Given the description of an element on the screen output the (x, y) to click on. 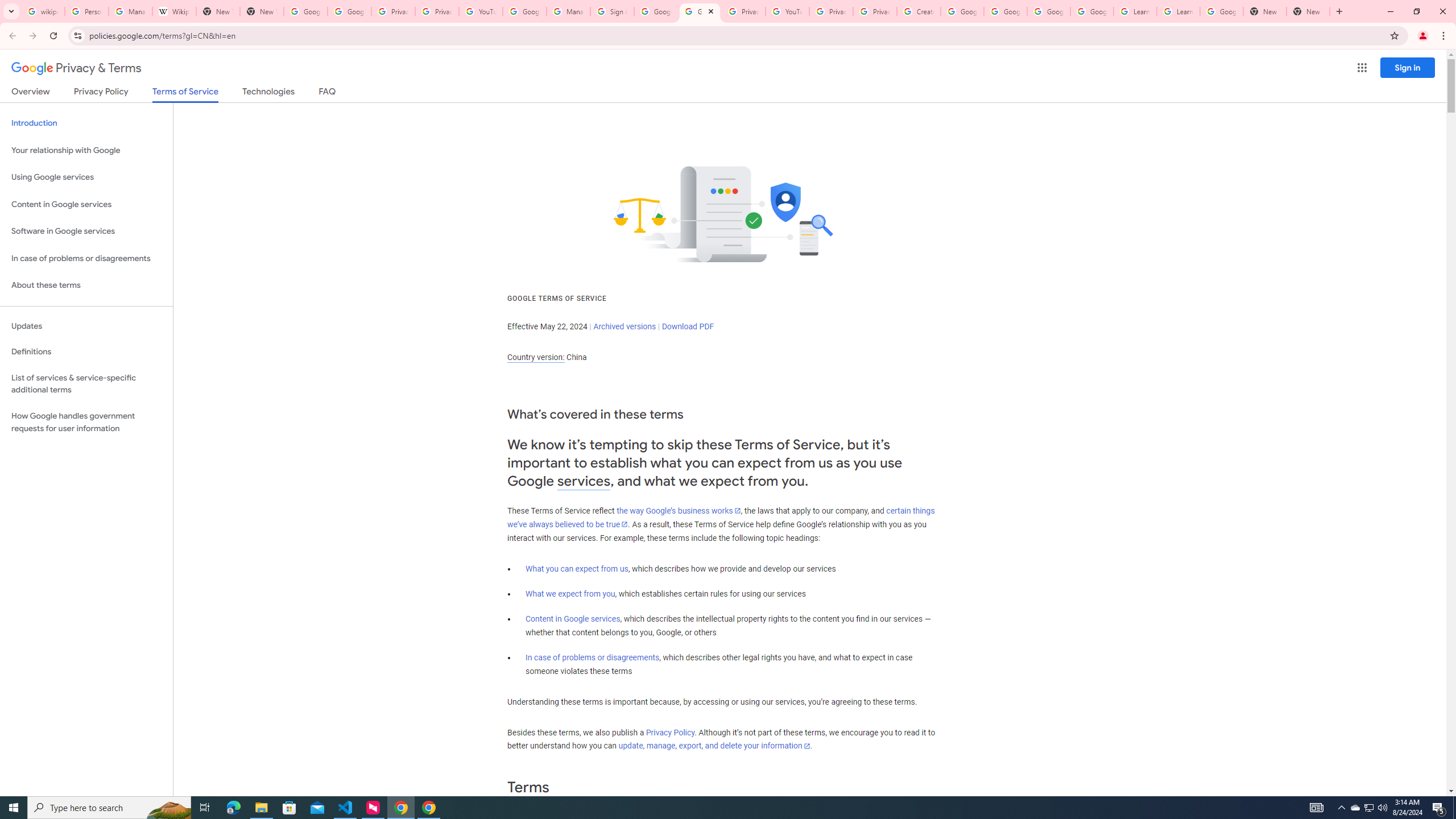
Privacy Policy (669, 732)
Google Account Help (962, 11)
Google Account Help (1048, 11)
Definitions (86, 352)
FAQ (327, 93)
What we expect from you (570, 593)
List of services & service-specific additional terms (86, 383)
Google Account Help (1005, 11)
Introduction (86, 122)
